Given the description of an element on the screen output the (x, y) to click on. 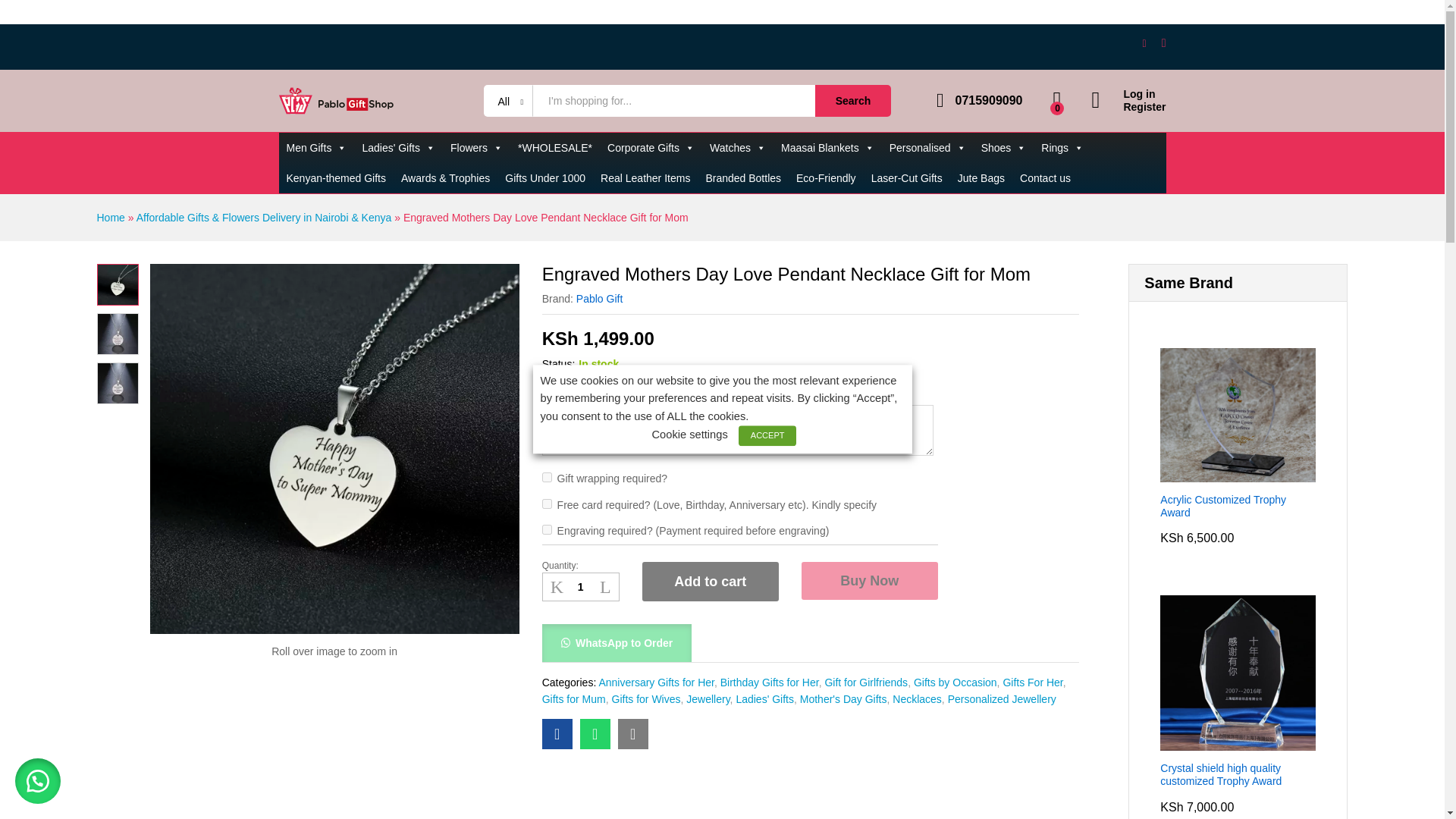
Gift wrap (546, 477)
Log in (1128, 93)
Engraved Mothers Day Love Pendant Necklace Gift for Mom (556, 734)
Engraved Mothers Day Love Pendant Necklace Gift for Mom (632, 734)
Instagram (1163, 42)
Engraved Mothers Day Love Pendant Necklace Gift for Mom (594, 734)
Search (853, 101)
Engrave (546, 529)
1 (546, 503)
Facebook (1144, 43)
0 (1056, 100)
Register (1128, 106)
Qty (580, 586)
Ladies' Gifts (397, 147)
1 (580, 586)
